Given the description of an element on the screen output the (x, y) to click on. 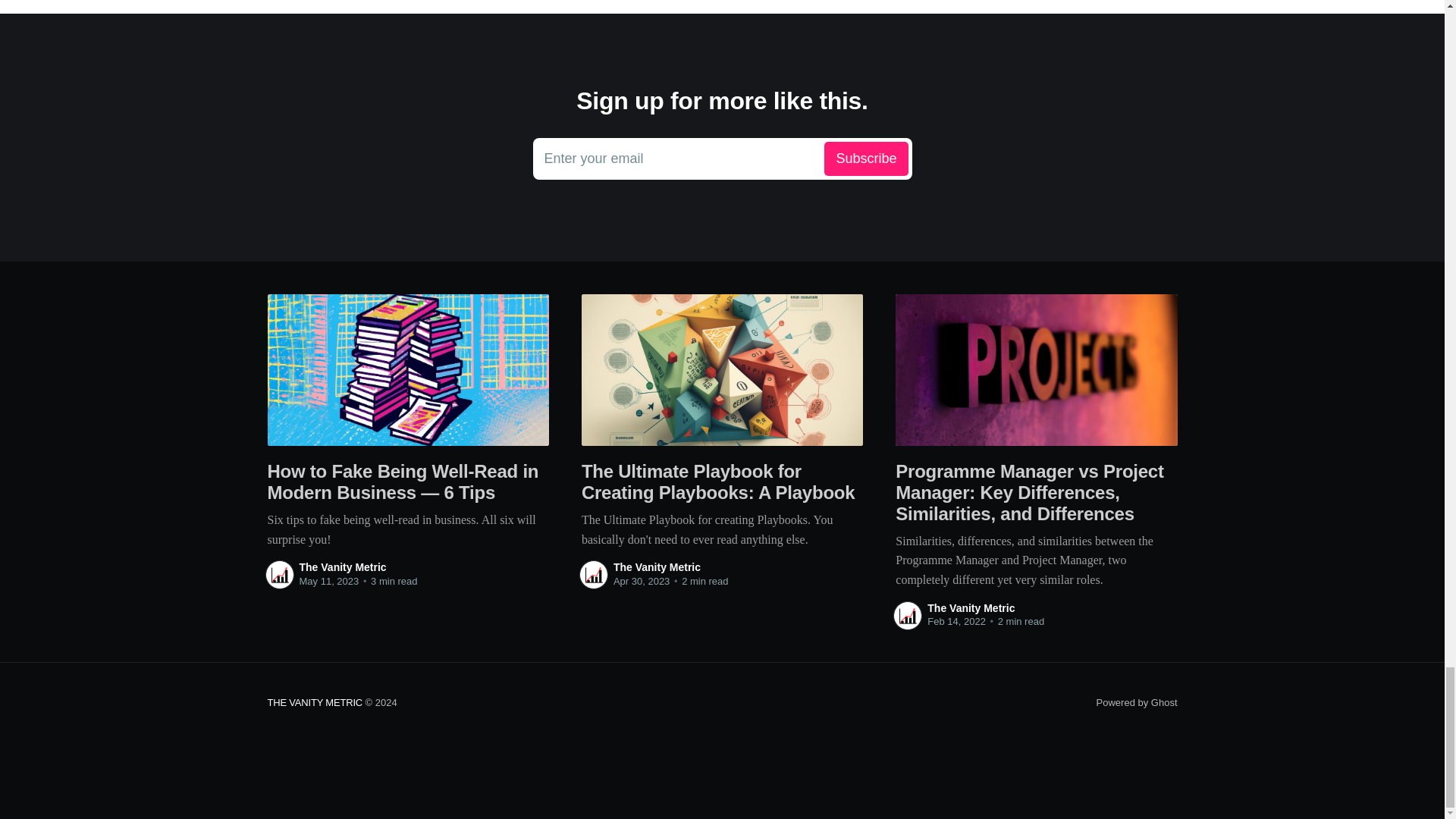
The Vanity Metric (970, 607)
Powered by Ghost (1136, 702)
The Vanity Metric (721, 159)
THE VANITY METRIC (341, 567)
The Vanity Metric (314, 702)
